Given the description of an element on the screen output the (x, y) to click on. 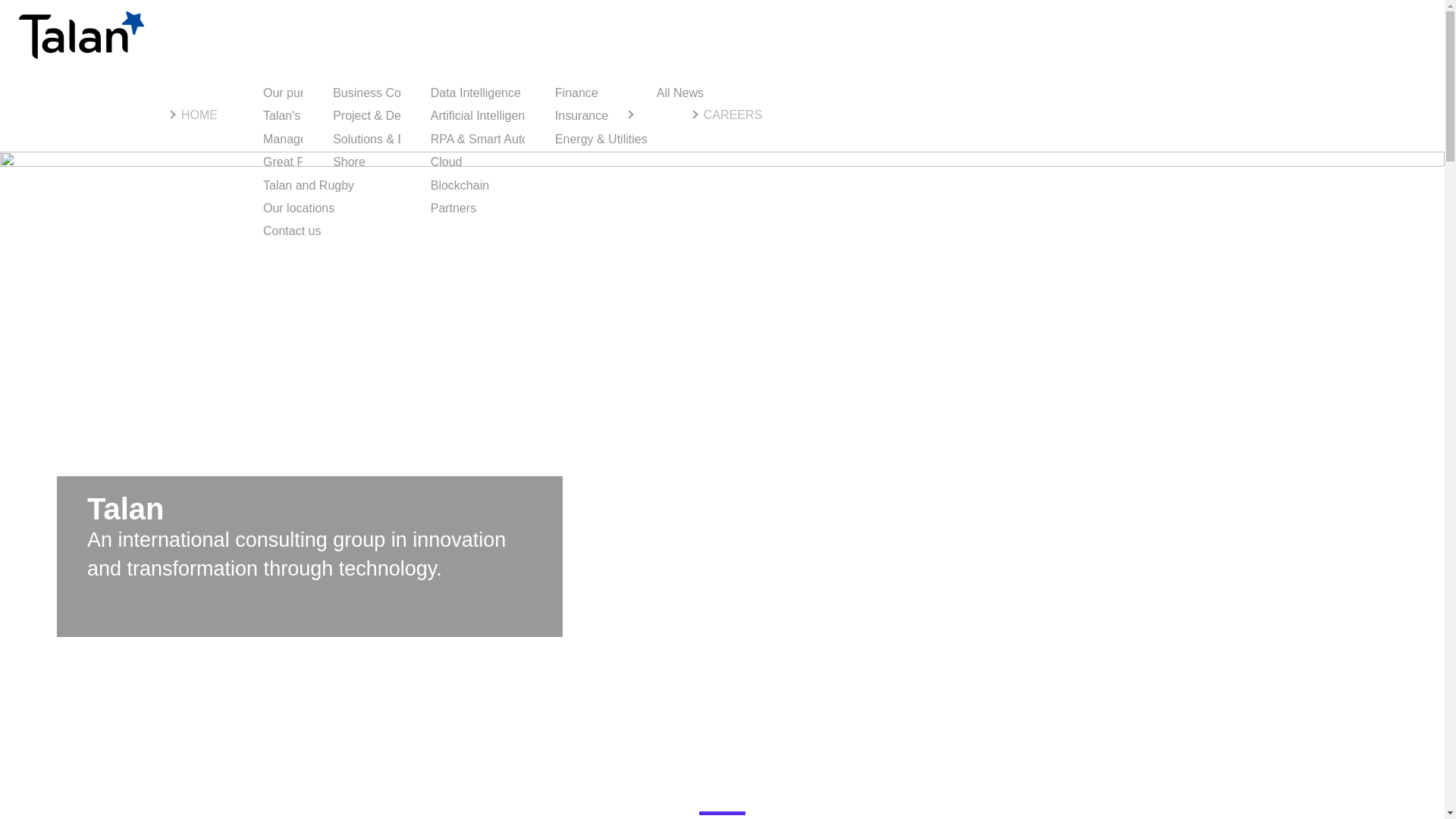
Cloud (446, 164)
Great Place To Work (318, 164)
Home (81, 34)
Finance (576, 95)
Talan's Research and Innovation Center (371, 117)
TECHNOLOGIES (454, 114)
Our locations (298, 210)
Management (298, 141)
ABOUT (259, 114)
CAREERS (725, 114)
Contact us (291, 233)
Blockchain (459, 188)
HOME (192, 114)
Partners (453, 210)
PRACTICES (343, 114)
